Given the description of an element on the screen output the (x, y) to click on. 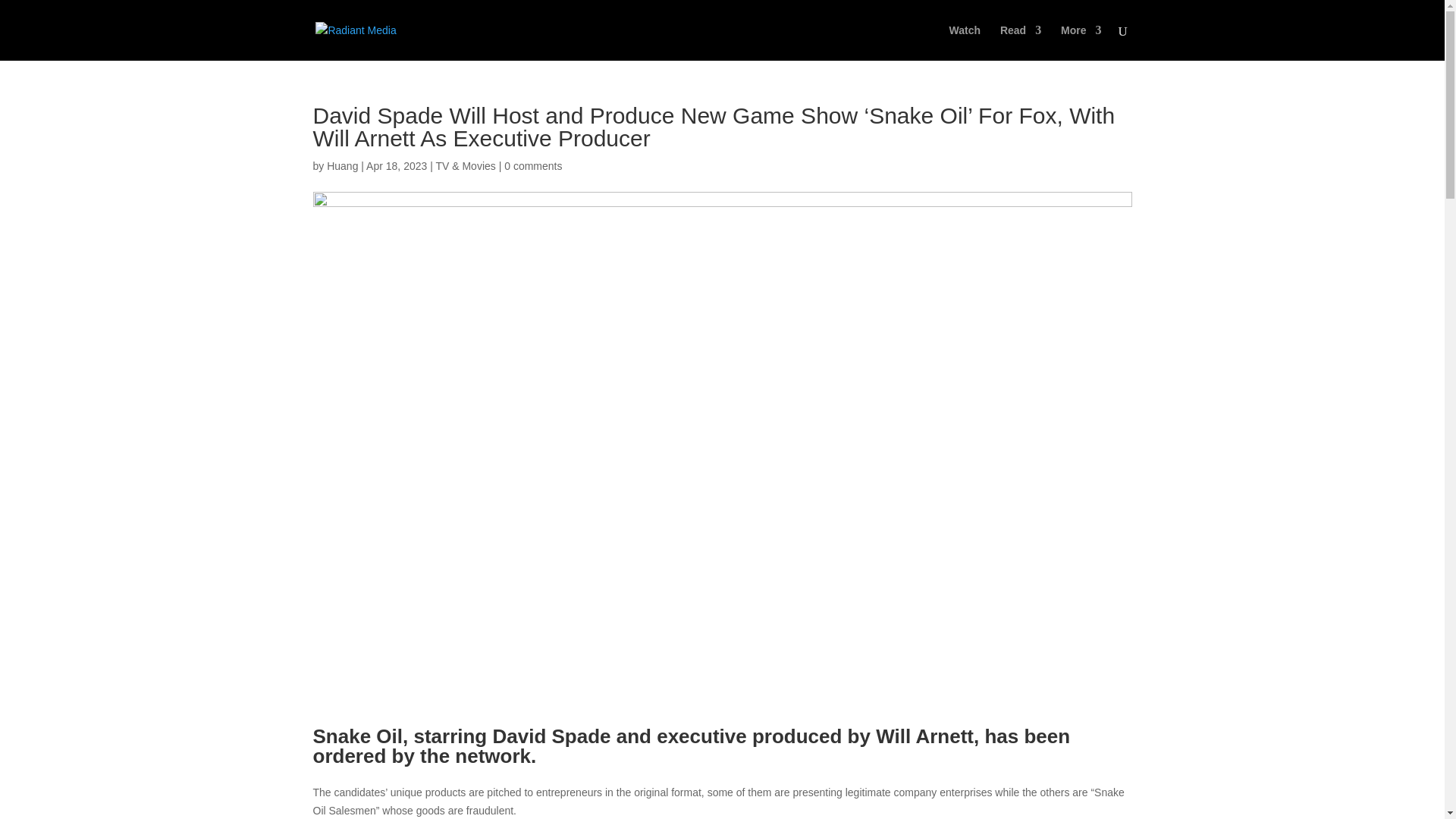
More (1080, 42)
Posts by Huang (342, 165)
Read (1020, 42)
0 comments (532, 165)
Huang (342, 165)
